Given the description of an element on the screen output the (x, y) to click on. 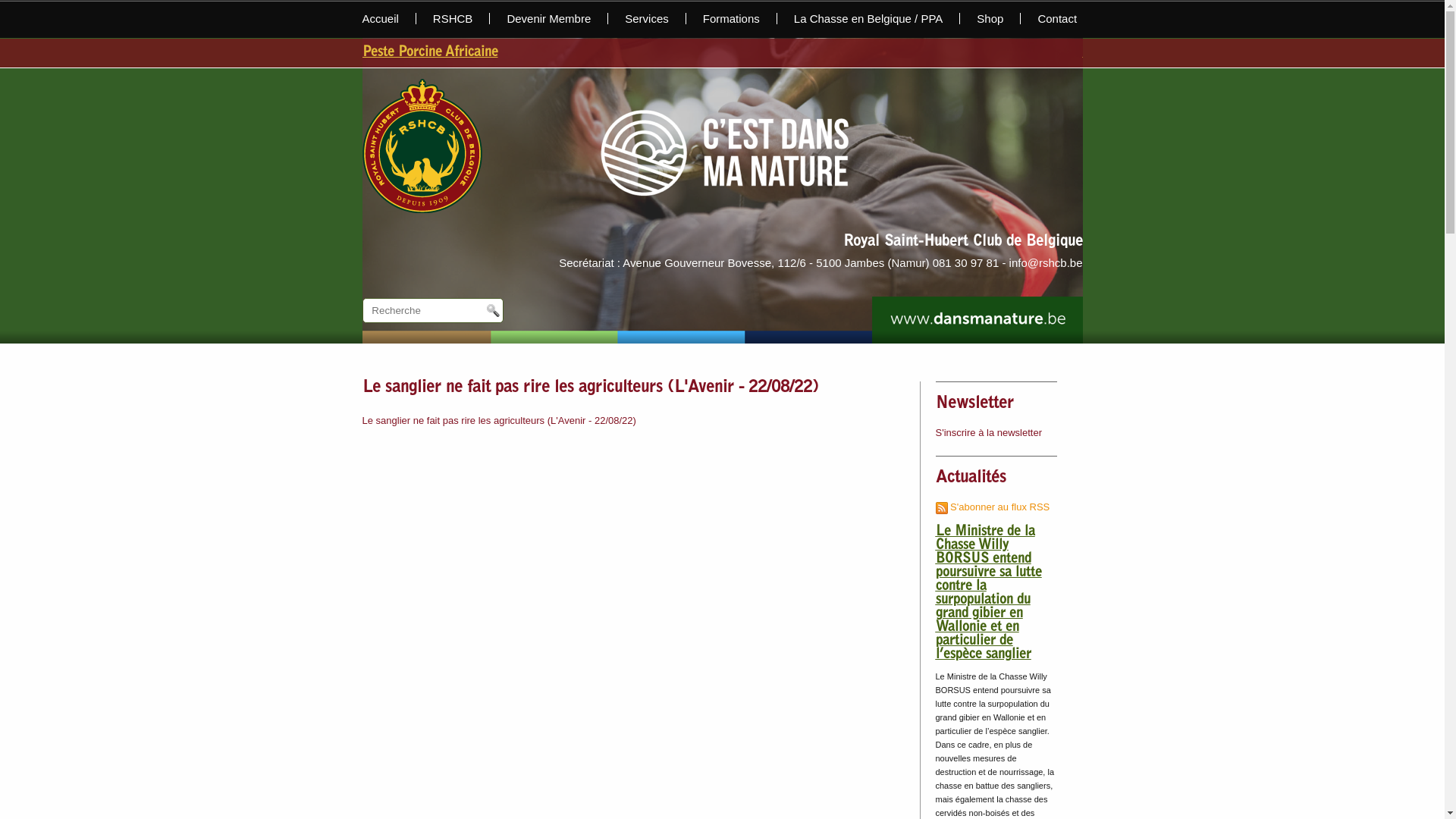
Newsletter Element type: text (974, 403)
Contact Element type: text (1048, 18)
RSHCB Element type: text (453, 18)
Formations Element type: text (731, 18)
Royal Saint-Hubert Club de Belgique Element type: text (962, 241)
Devenir Membre Element type: text (548, 18)
La Chasse en Belgique / PPA Element type: text (868, 18)
Services Element type: text (647, 18)
Accueil Element type: text (389, 18)
Shop Element type: text (990, 18)
S'abonner au flux RSS Element type: text (992, 506)
Peste Porcine Africaine Element type: text (686, 52)
